Given the description of an element on the screen output the (x, y) to click on. 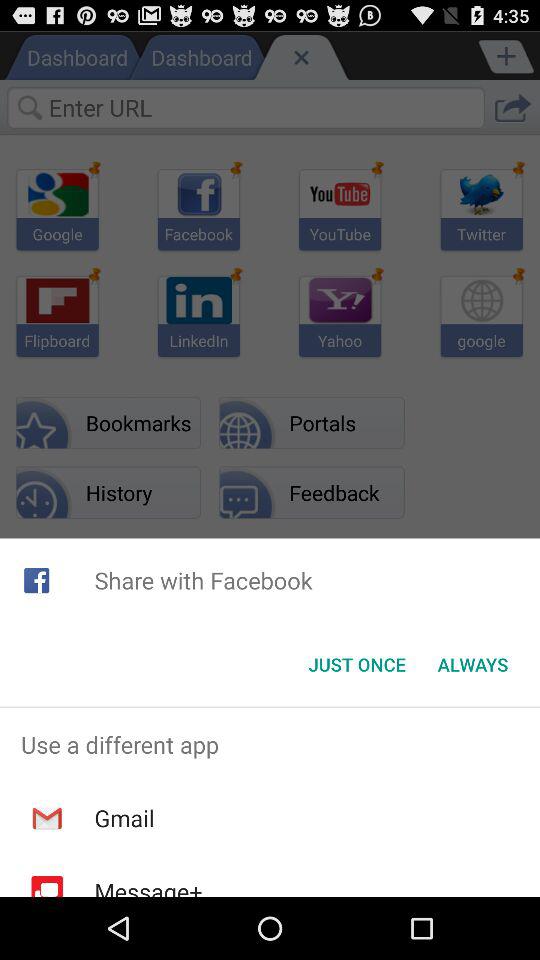
click the just once button (356, 664)
